Given the description of an element on the screen output the (x, y) to click on. 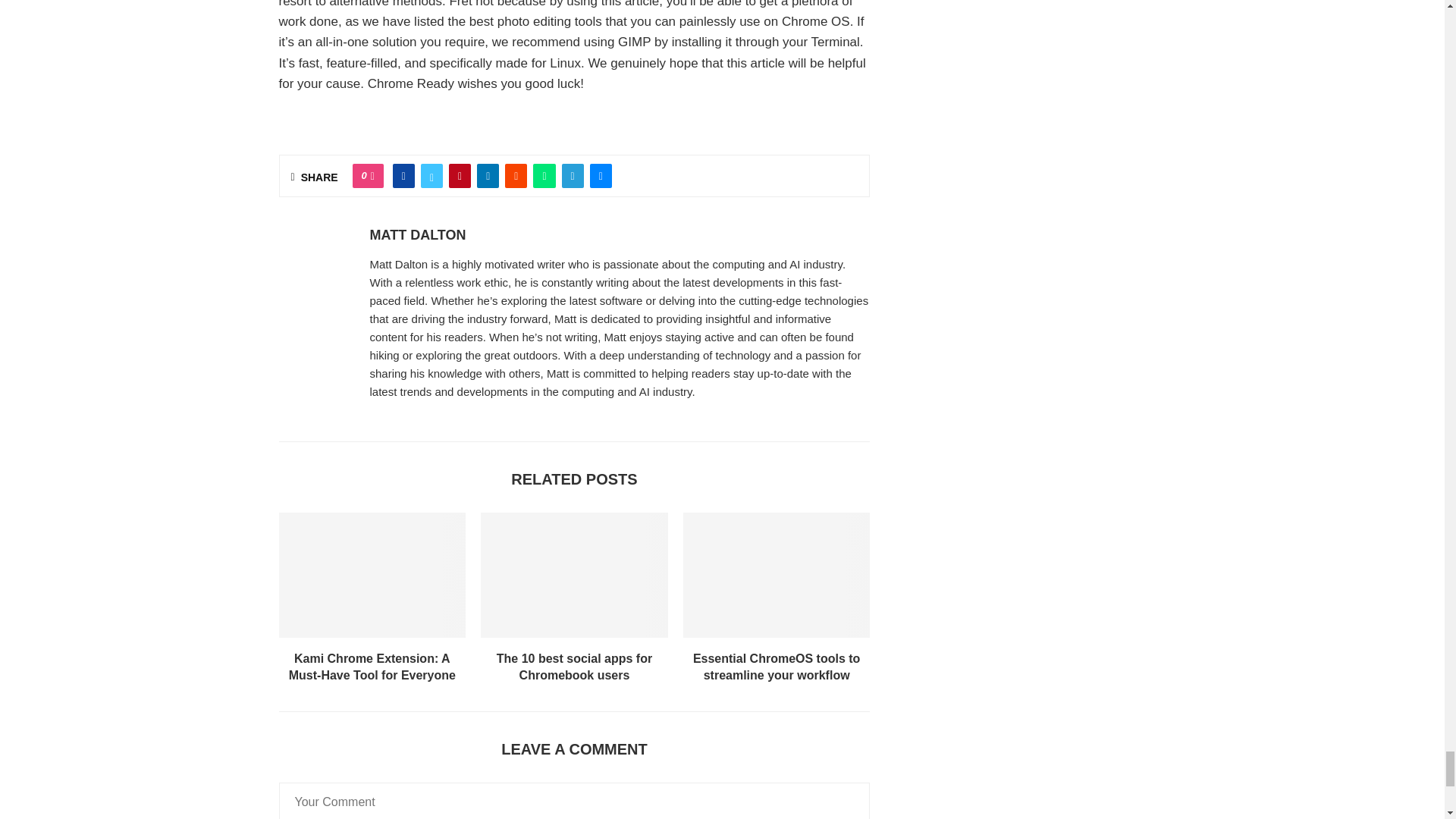
Author Matt Dalton (417, 235)
The 10 best social apps for Chromebook users (574, 574)
Essential ChromeOS tools to streamline your workflow (776, 574)
Kami Chrome Extension: A Must-Have Tool for Everyone (372, 574)
